Given the description of an element on the screen output the (x, y) to click on. 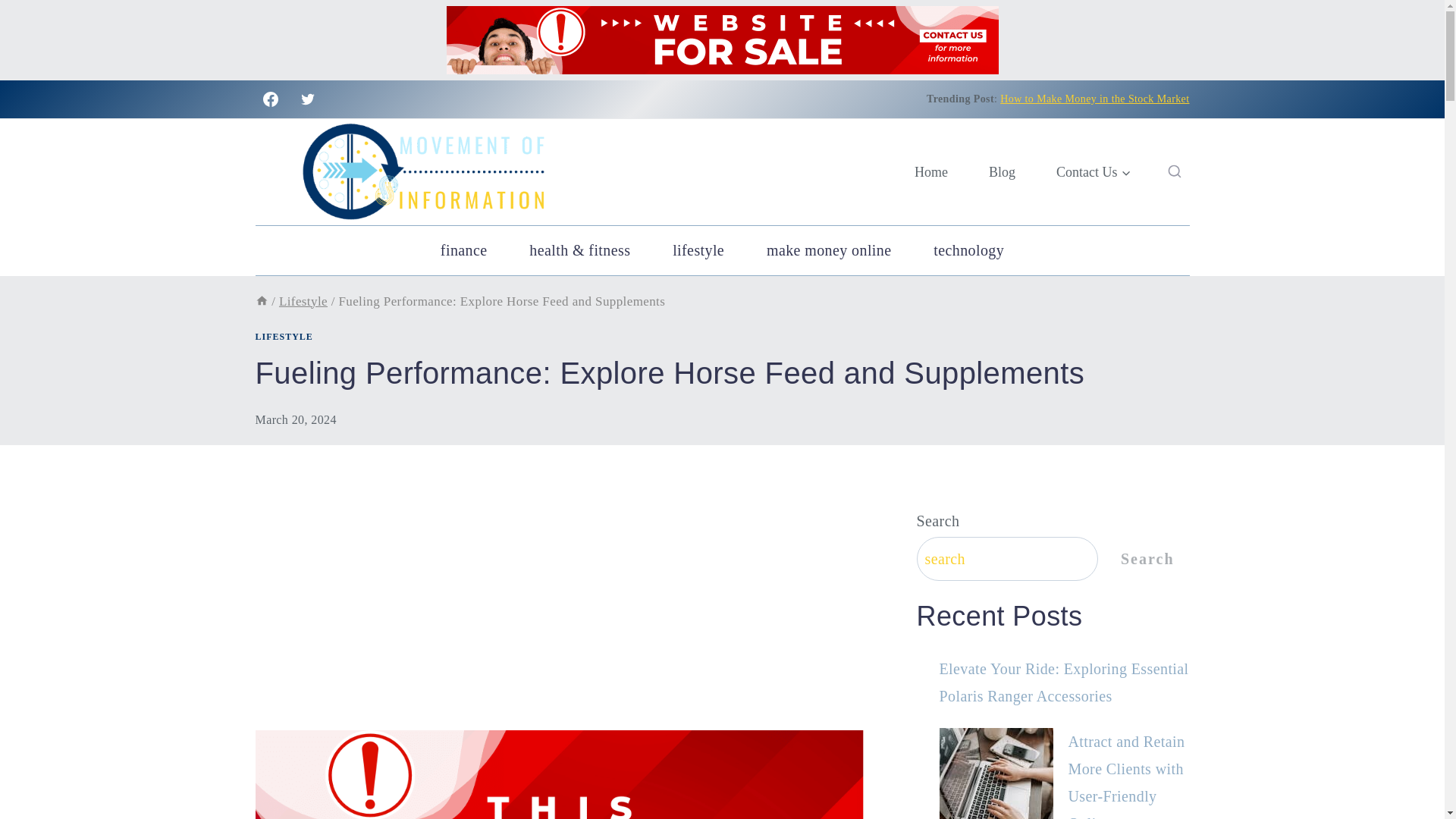
technology (968, 250)
Lifestyle (303, 301)
Advertisement (558, 617)
Contact Us (1093, 171)
Blog (1001, 171)
finance (463, 250)
LIFESTYLE (283, 336)
Home (260, 301)
Home (930, 171)
lifestyle (697, 250)
make money online (828, 250)
How to Make Money in the Stock Market (1094, 98)
